Given the description of an element on the screen output the (x, y) to click on. 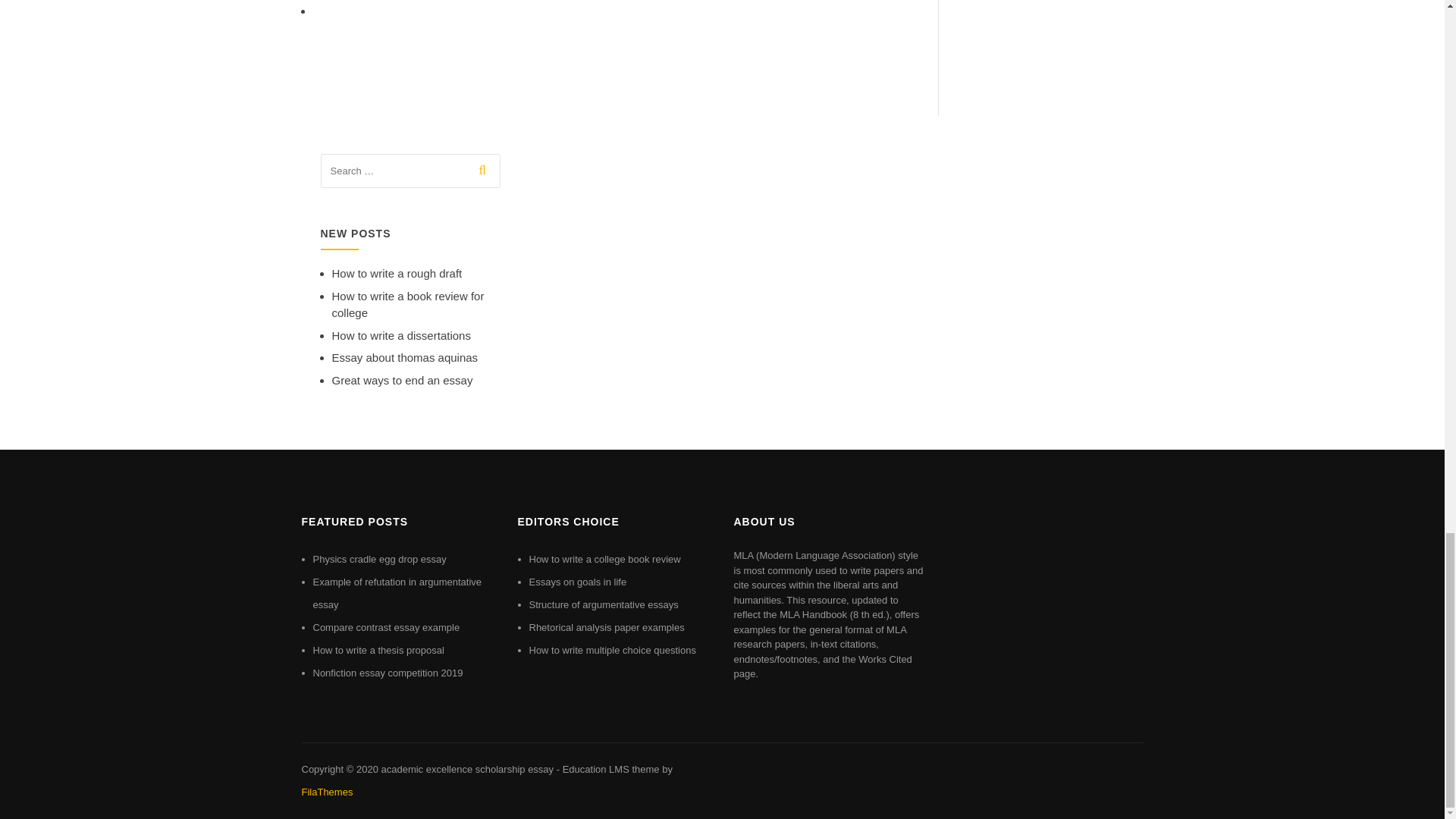
Structure of argumentative essays (603, 604)
How to write a rough draft (397, 273)
Example of refutation in argumentative essay (397, 593)
How to write a dissertations (400, 335)
How to write a college book review (605, 559)
How to write a book review for college (407, 304)
Rhetorical analysis paper examples (606, 627)
How to write multiple choice questions (612, 650)
How to write a thesis proposal (378, 650)
Compare contrast essay example (386, 627)
Nonfiction essay competition 2019 (388, 672)
Physics cradle egg drop essay (379, 559)
Essays on goals in life (578, 582)
Great ways to end an essay (402, 379)
Essay about thomas aquinas (405, 357)
